Given the description of an element on the screen output the (x, y) to click on. 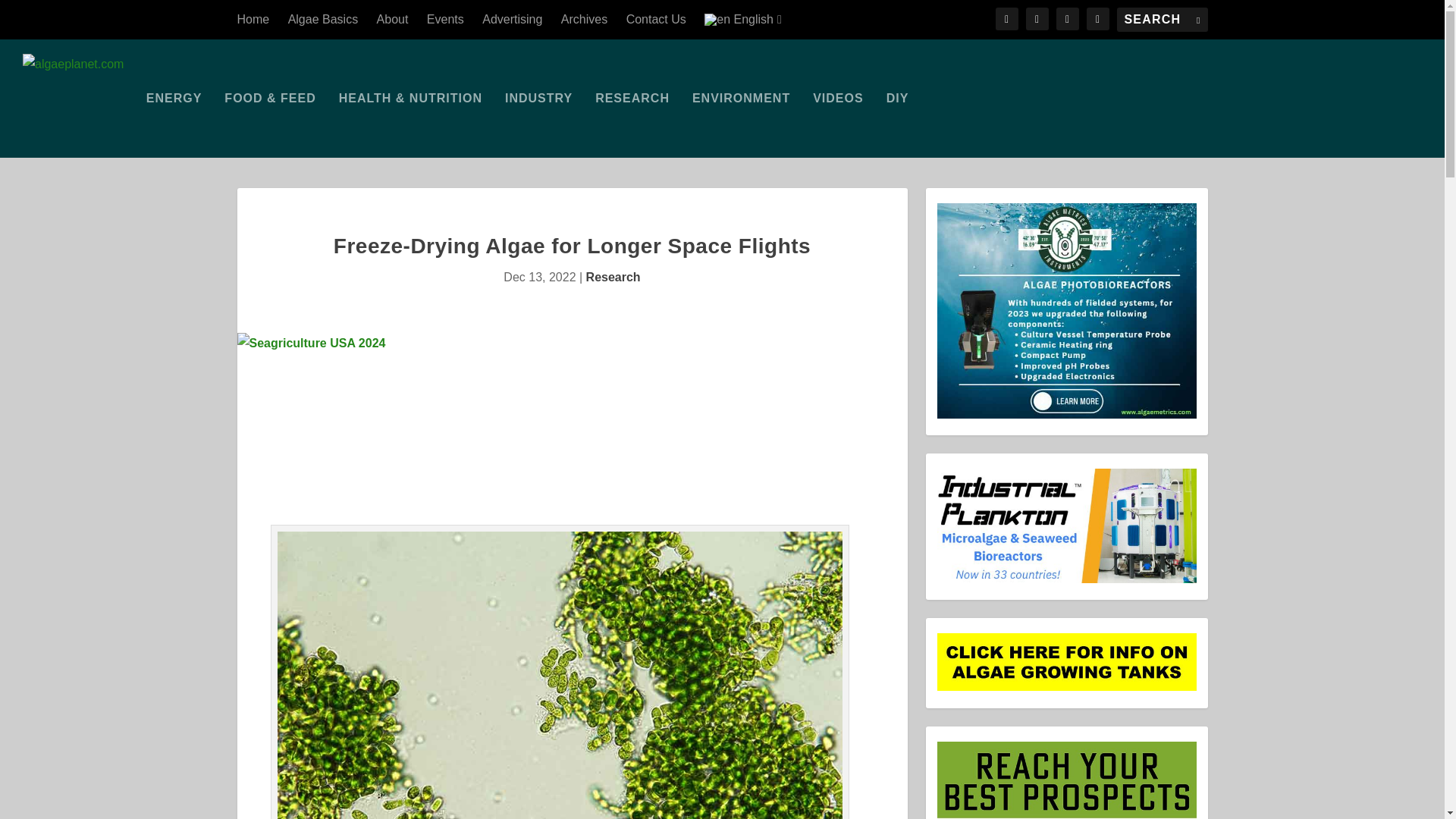
Research (613, 277)
Algae Basics (323, 19)
Advertising (511, 19)
RESEARCH (632, 125)
English (742, 19)
Archives (583, 19)
Events (445, 19)
ENVIRONMENT (741, 125)
Contact Us (655, 19)
Search for: (1161, 19)
